Given the description of an element on the screen output the (x, y) to click on. 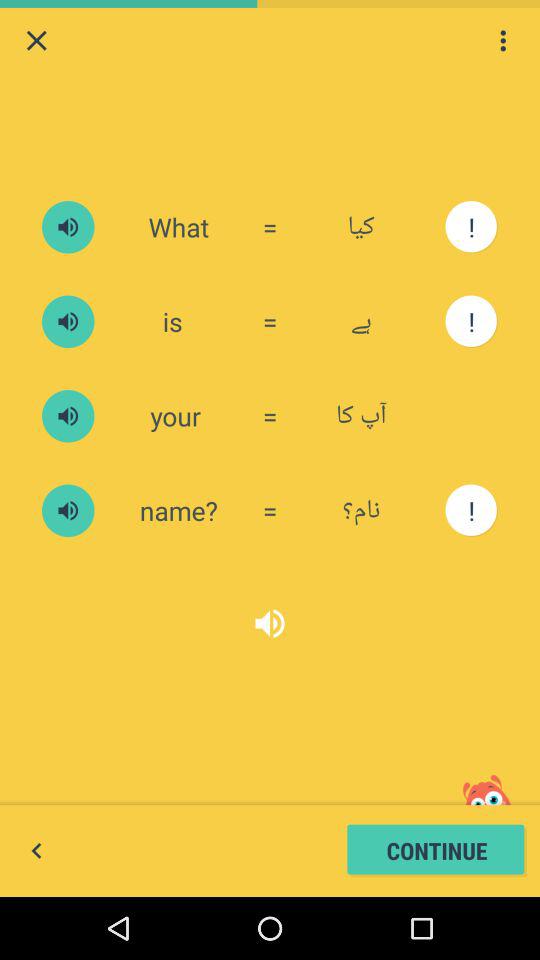
mute (68, 321)
